Given the description of an element on the screen output the (x, y) to click on. 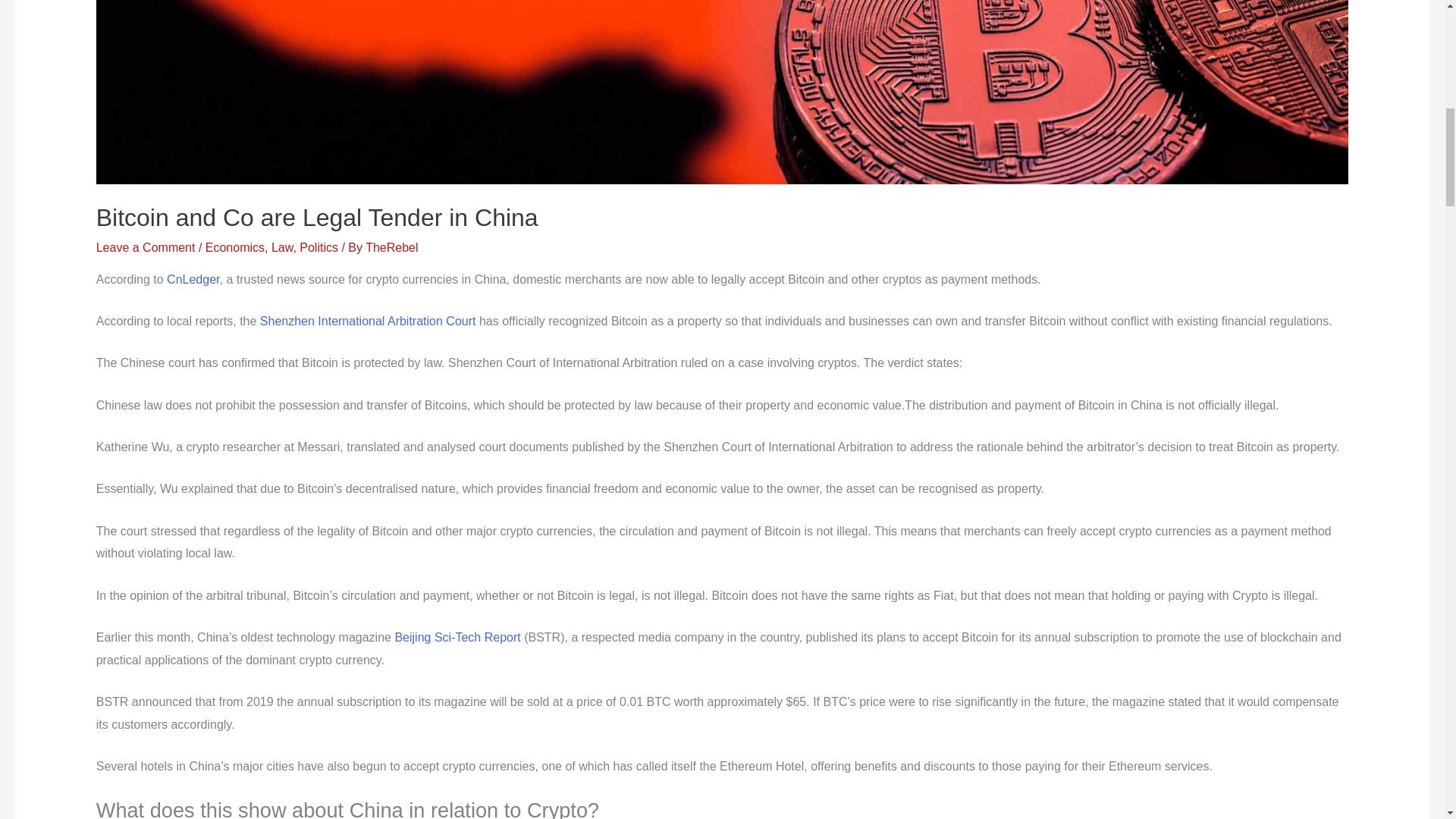
Leave a Comment (145, 246)
CnLedger (193, 278)
Law (281, 246)
Shenzhen International Arbitration Court (368, 320)
TheRebel (391, 246)
Bitcoin and Co are Legal Tender in China (317, 216)
Beijing Sci-Tech Report (456, 636)
Politics (318, 246)
View all posts by TheRebel (391, 246)
Economics (234, 246)
